Given the description of an element on the screen output the (x, y) to click on. 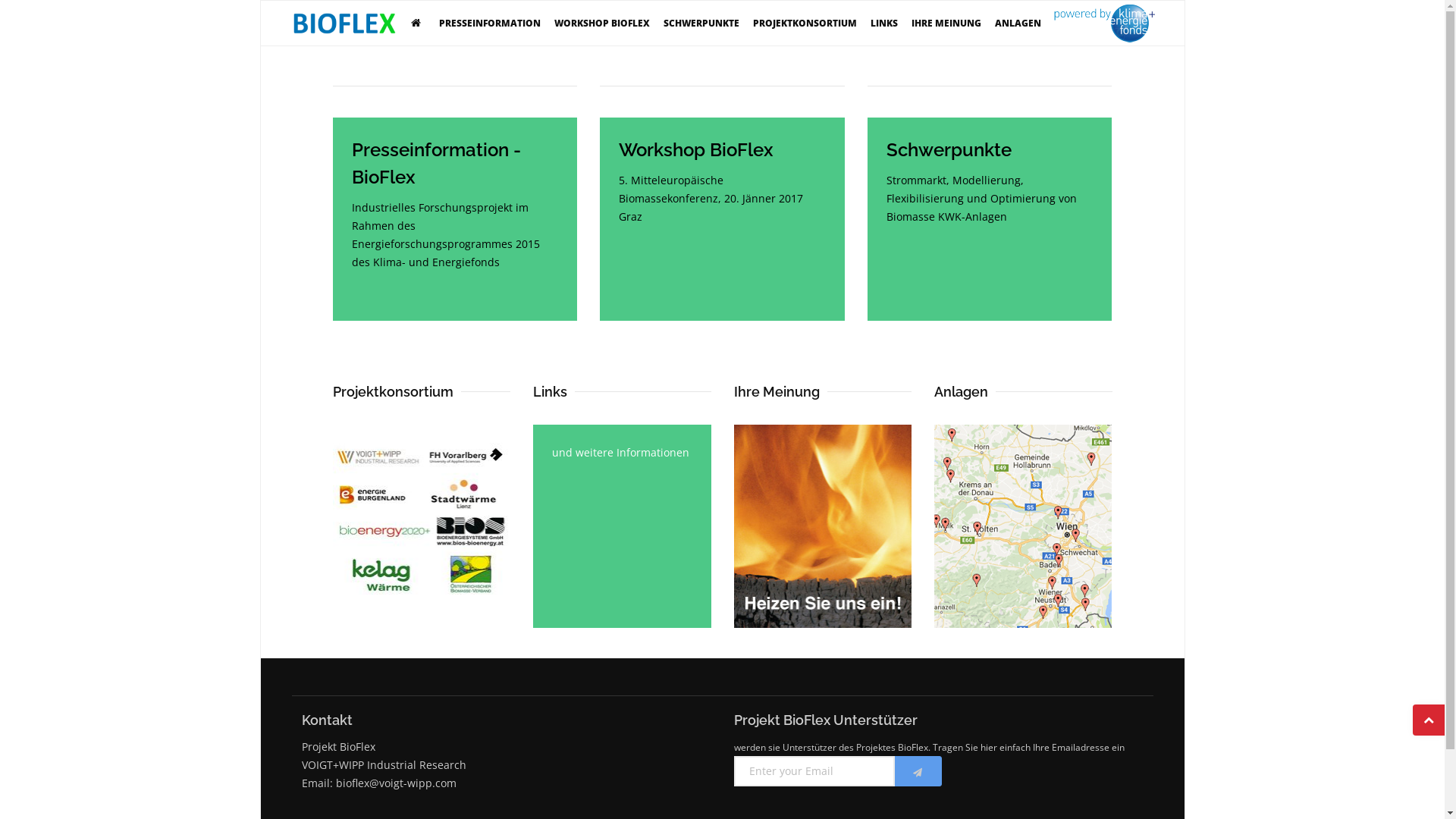
PRESSEINFORMATION Element type: text (489, 23)
PROJEKTKONSORTIUM Element type: text (804, 23)
Bioflex Element type: hover (343, 23)
IHRE MEINUNG Element type: text (945, 23)
SCHWERPUNKTE Element type: text (700, 23)
LINKS Element type: text (883, 23)
WORKSHOP BIOFLEX Element type: text (601, 23)
powered by klima + energie fonds Element type: hover (1104, 23)
ANLAGEN Element type: text (1017, 23)
